Given the description of an element on the screen output the (x, y) to click on. 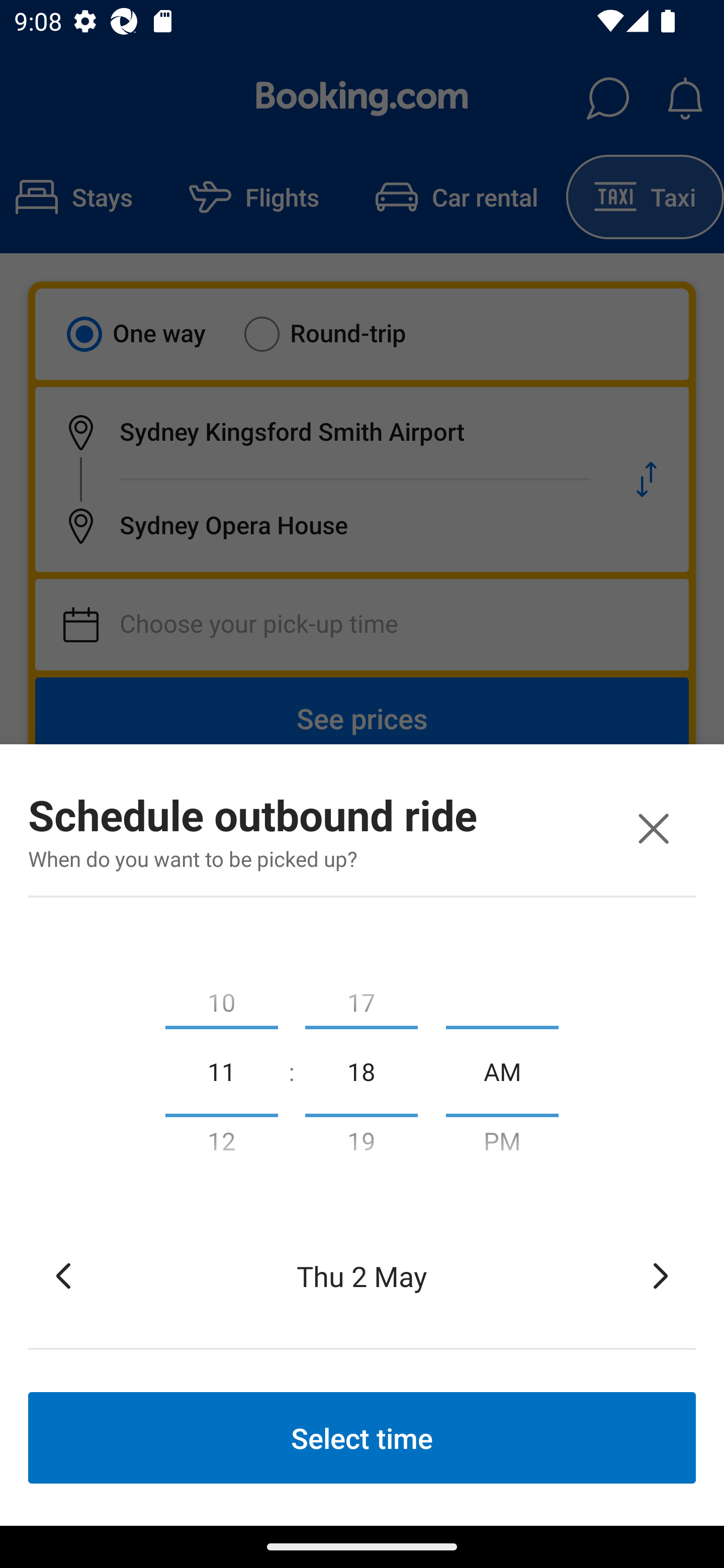
Close window (653, 828)
10 (221, 997)
17 (361, 997)
11 (221, 1070)
18 (361, 1070)
AM (501, 1070)
12 (221, 1144)
19 (361, 1144)
PM (501, 1144)
Tap to move back to the previous date (63, 1275)
Tap to move forward to the next date (660, 1275)
Thu 2 May Selected date, Thursday, 2 May (361, 1275)
Select time (361, 1437)
